Given the description of an element on the screen output the (x, y) to click on. 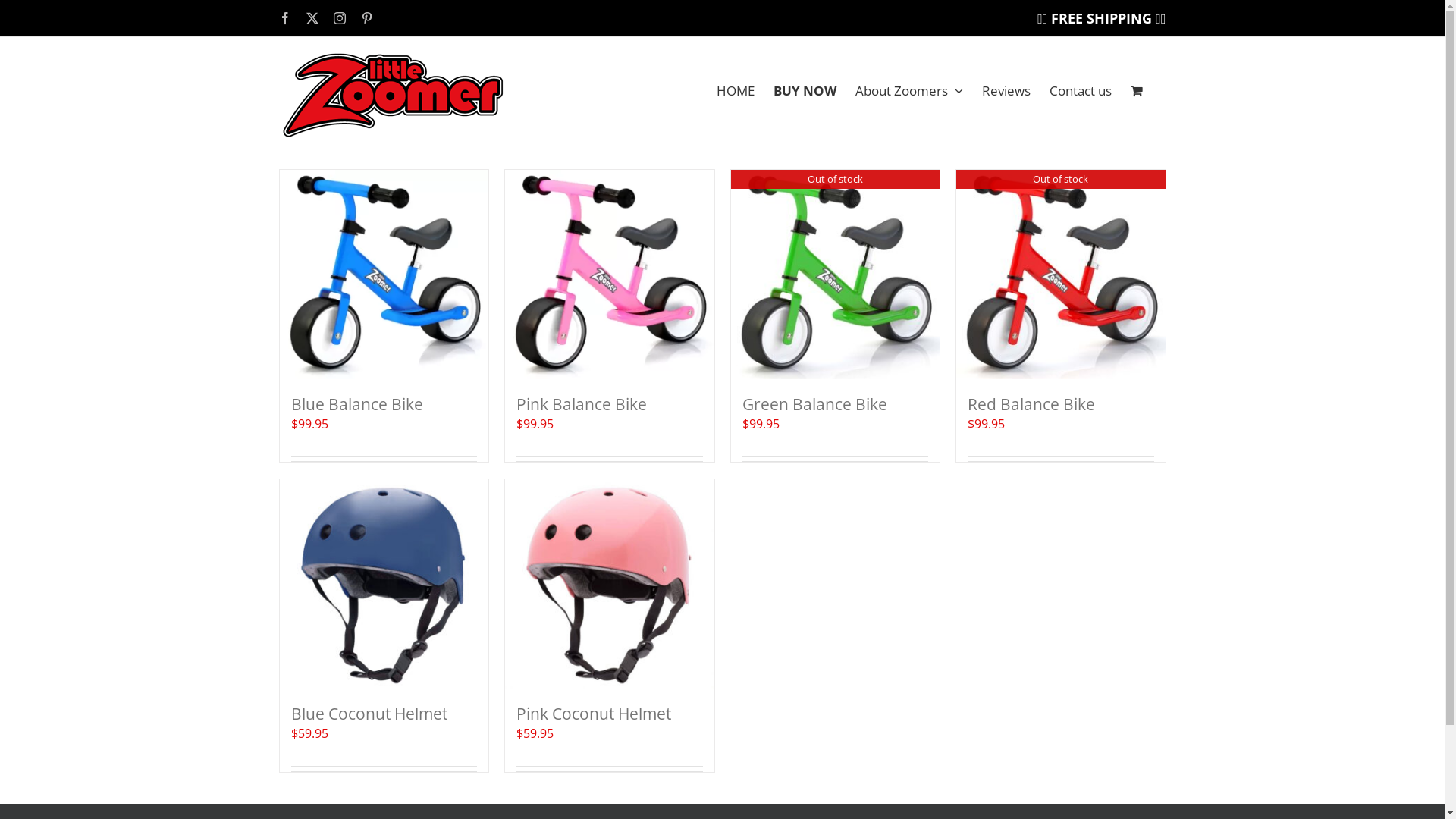
Facebook Element type: text (285, 18)
Contact us Element type: text (1080, 90)
Blue Coconut Helmet Element type: text (369, 713)
Out of stock Element type: text (1060, 274)
Red Balance Bike Element type: text (1031, 403)
Blue Balance Bike Element type: text (357, 403)
Out of stock Element type: text (835, 274)
Twitter Element type: text (312, 18)
Pink Coconut Helmet Element type: text (593, 713)
BUY NOW Element type: text (804, 90)
HOME Element type: text (734, 90)
Pinterest Element type: text (366, 18)
About Zoomers Element type: text (909, 90)
Reviews Element type: text (1005, 90)
Instagram Element type: text (339, 18)
Pink Balance Bike Element type: text (581, 403)
Green Balance Bike Element type: text (813, 403)
